Given the description of an element on the screen output the (x, y) to click on. 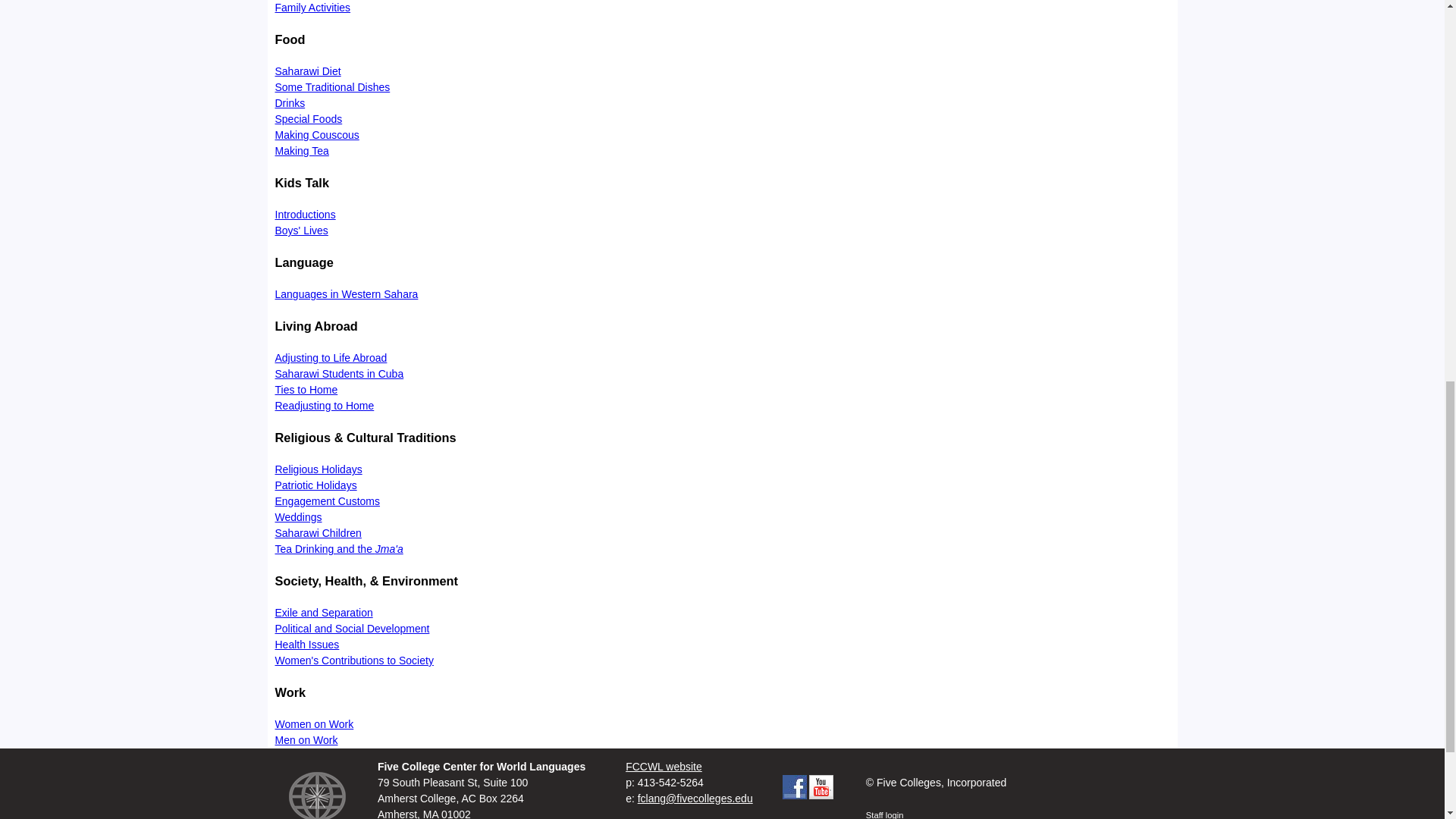
Drinks (289, 102)
Some Traditional Dishes (332, 87)
Making Tea (302, 150)
Special Foods (308, 119)
Boys' Lives (301, 230)
Facebook (794, 786)
Family Activities (312, 7)
Introductions (304, 214)
Saharawi Diet (307, 70)
Making Couscous (316, 134)
